Given the description of an element on the screen output the (x, y) to click on. 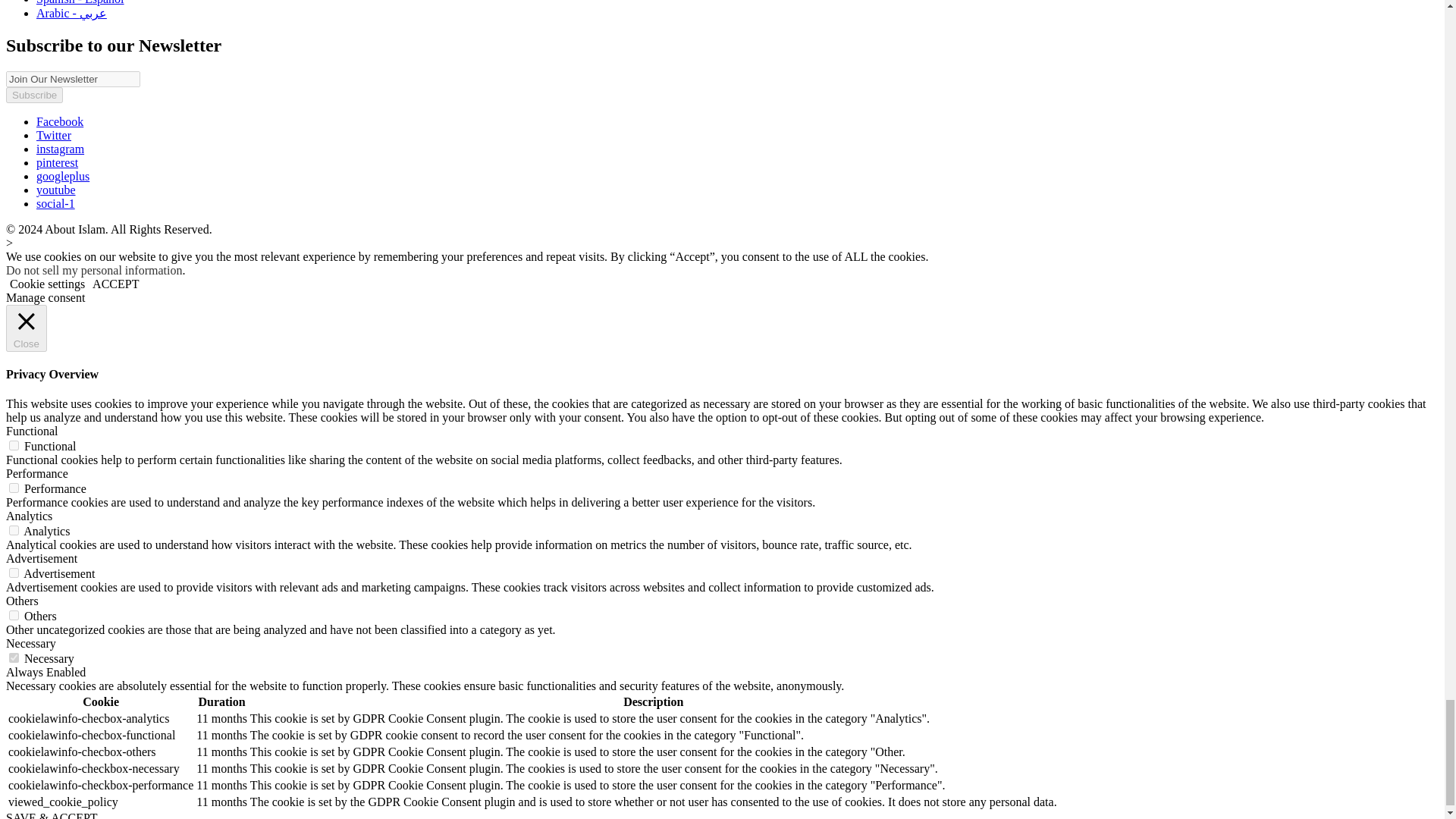
instagram (60, 148)
googleplus (62, 175)
on (13, 657)
Twitter (53, 134)
Join Our Newsletter (72, 78)
on (13, 530)
social-1 (55, 203)
on (13, 614)
Facebook (59, 121)
Subscribe (33, 94)
on (13, 445)
on (13, 573)
youtube (55, 189)
on (13, 488)
pinterest (57, 162)
